Given the description of an element on the screen output the (x, y) to click on. 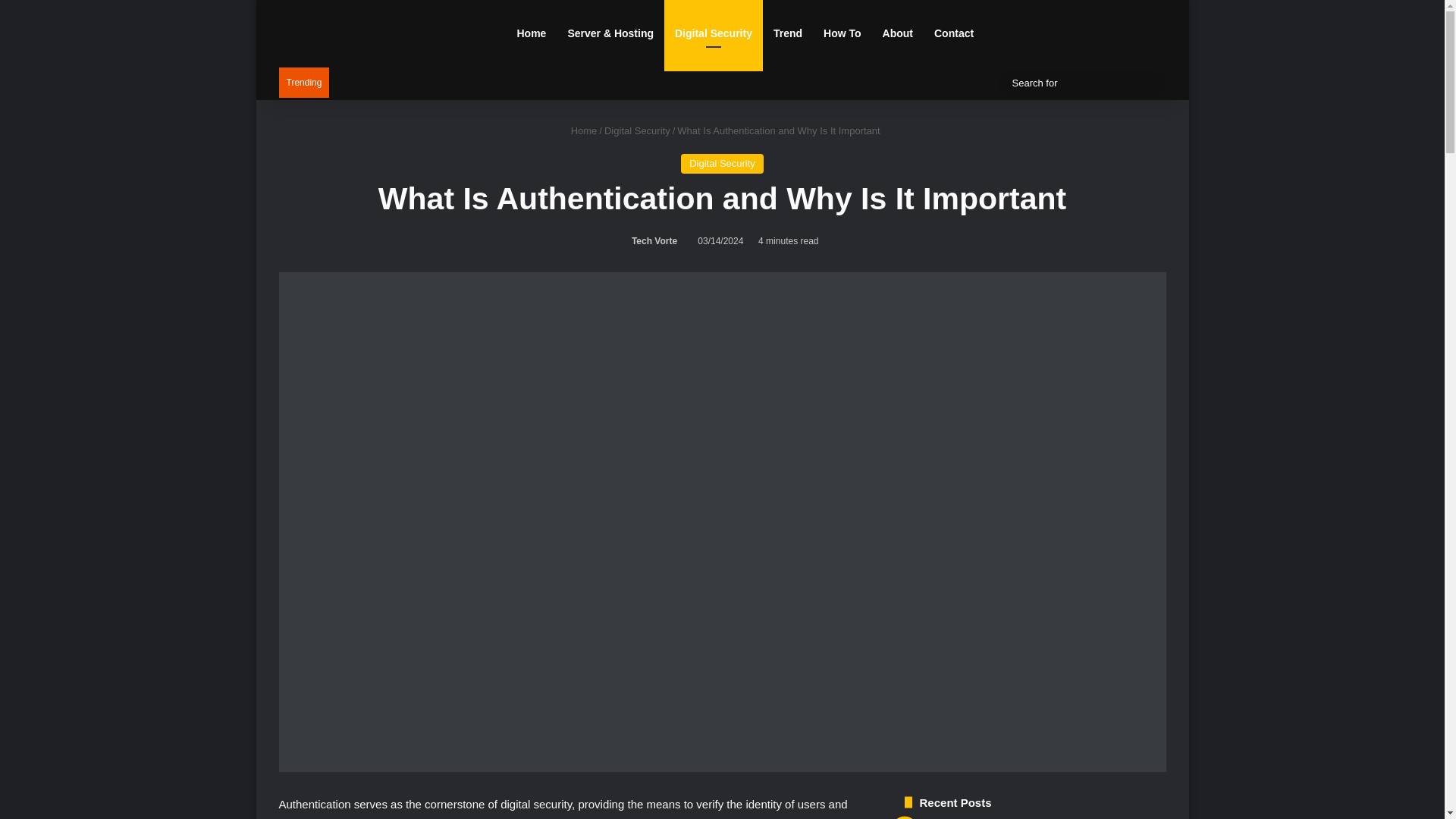
Digital Security (712, 33)
Home (580, 130)
Digital Security (721, 163)
Digital Security (636, 130)
Tech Vorte (652, 240)
Tech Vorte (652, 240)
Contact (953, 33)
Search for (1150, 83)
Search for (1080, 82)
